Given the description of an element on the screen output the (x, y) to click on. 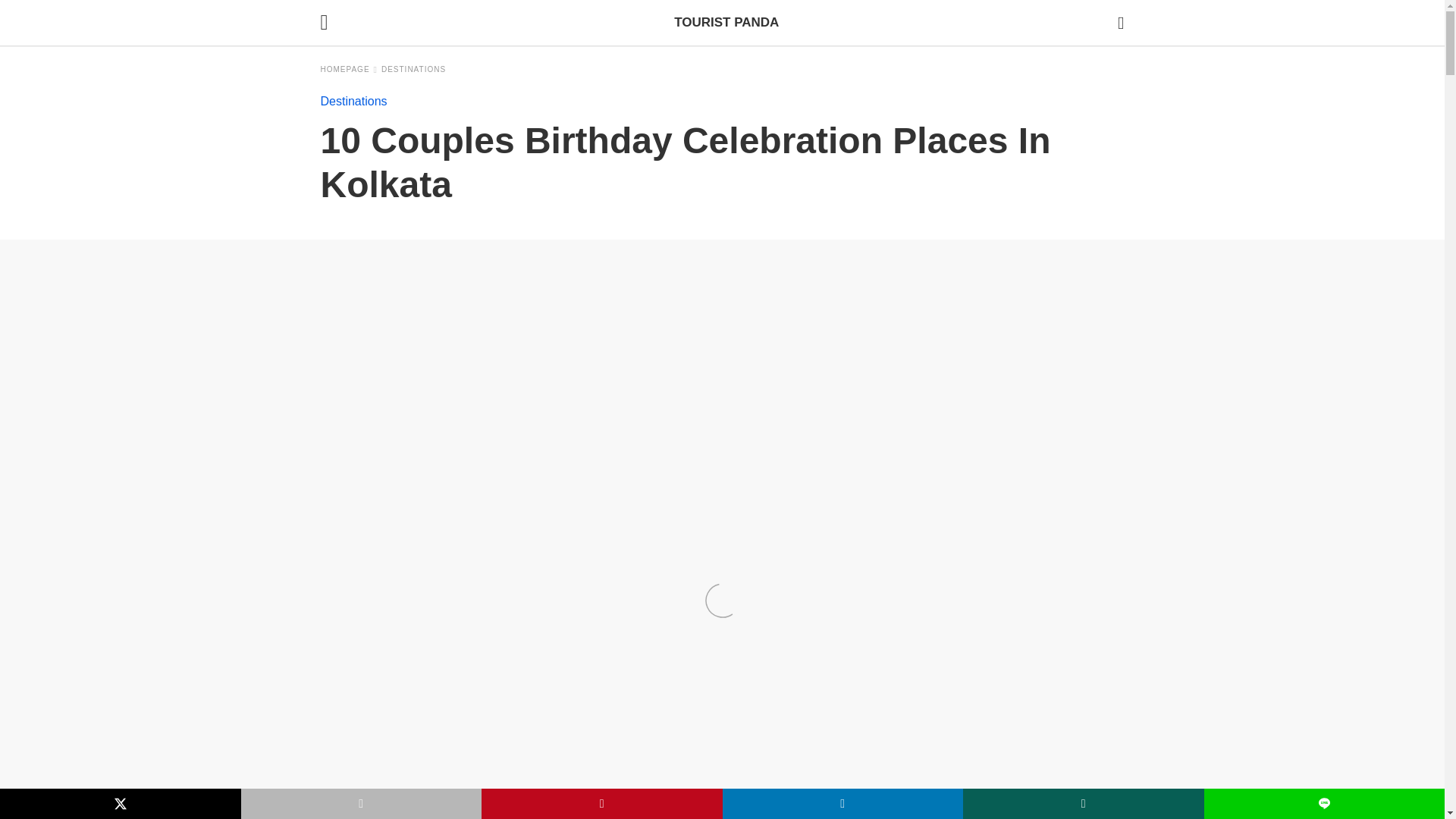
Destinations (353, 101)
DESTINATIONS (413, 69)
Destinations (413, 69)
Destinations (353, 101)
Homepage (348, 69)
HOMEPAGE (348, 69)
